Given the description of an element on the screen output the (x, y) to click on. 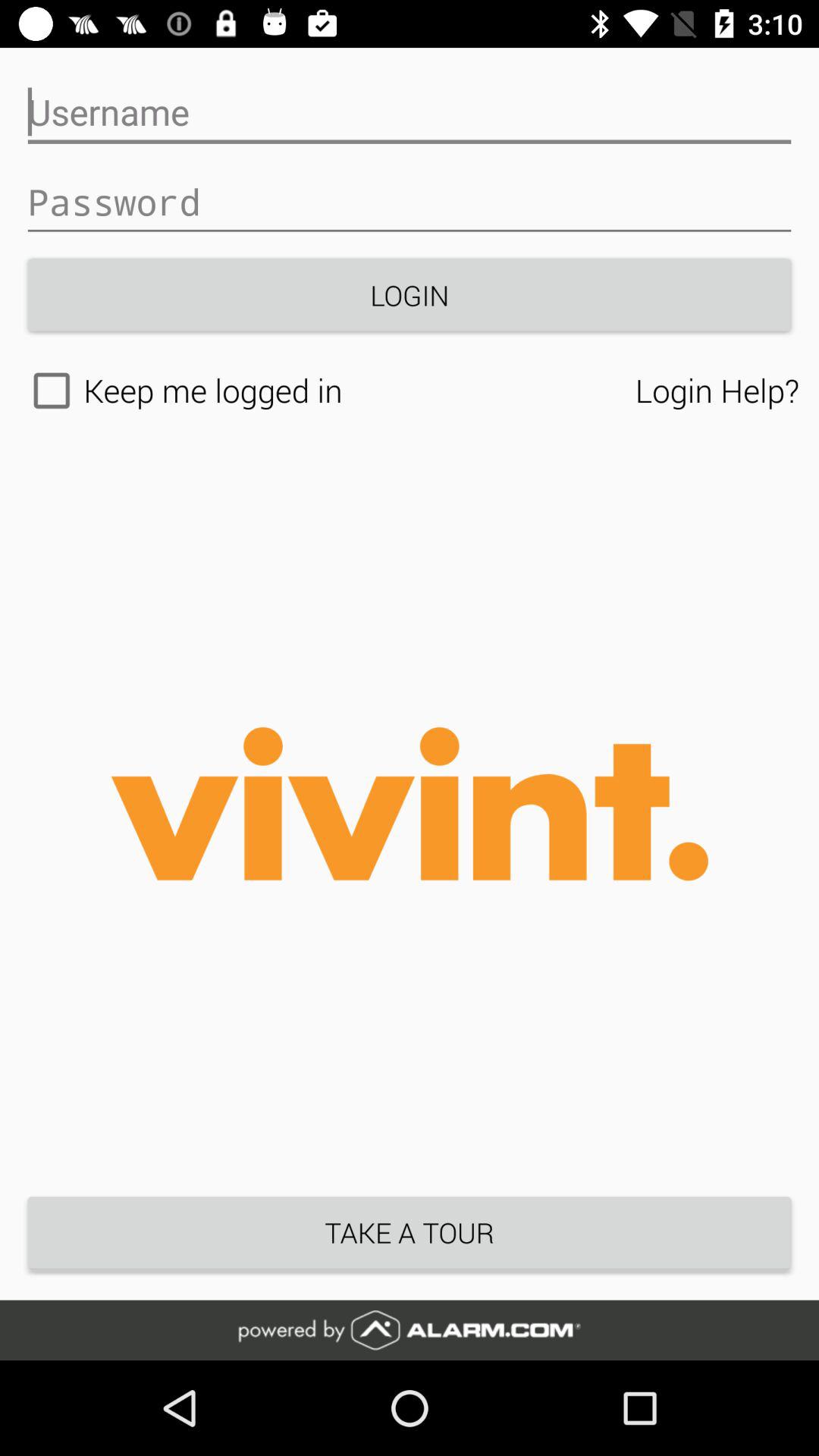
turn on item next to the login help? (327, 390)
